Given the description of an element on the screen output the (x, y) to click on. 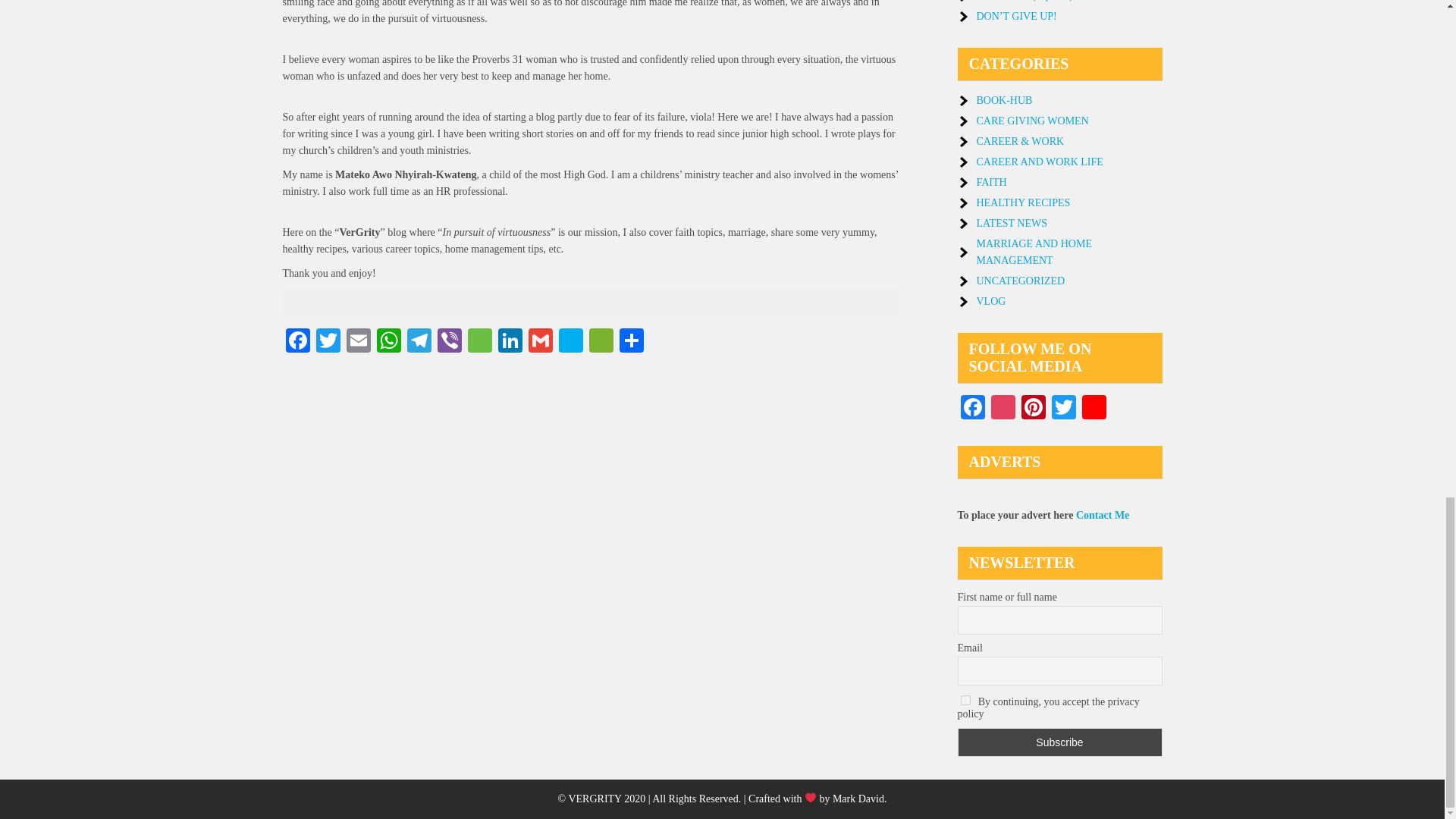
WeChat (600, 342)
Facebook (297, 342)
LinkedIn (509, 342)
LinkedIn (509, 342)
Twitter (327, 342)
Message (479, 342)
Email (357, 342)
WhatsApp (387, 342)
on (964, 700)
Telegram (418, 342)
WeChat (600, 342)
Telegram (418, 342)
Viber (448, 342)
Gmail (539, 342)
Skype (569, 342)
